Given the description of an element on the screen output the (x, y) to click on. 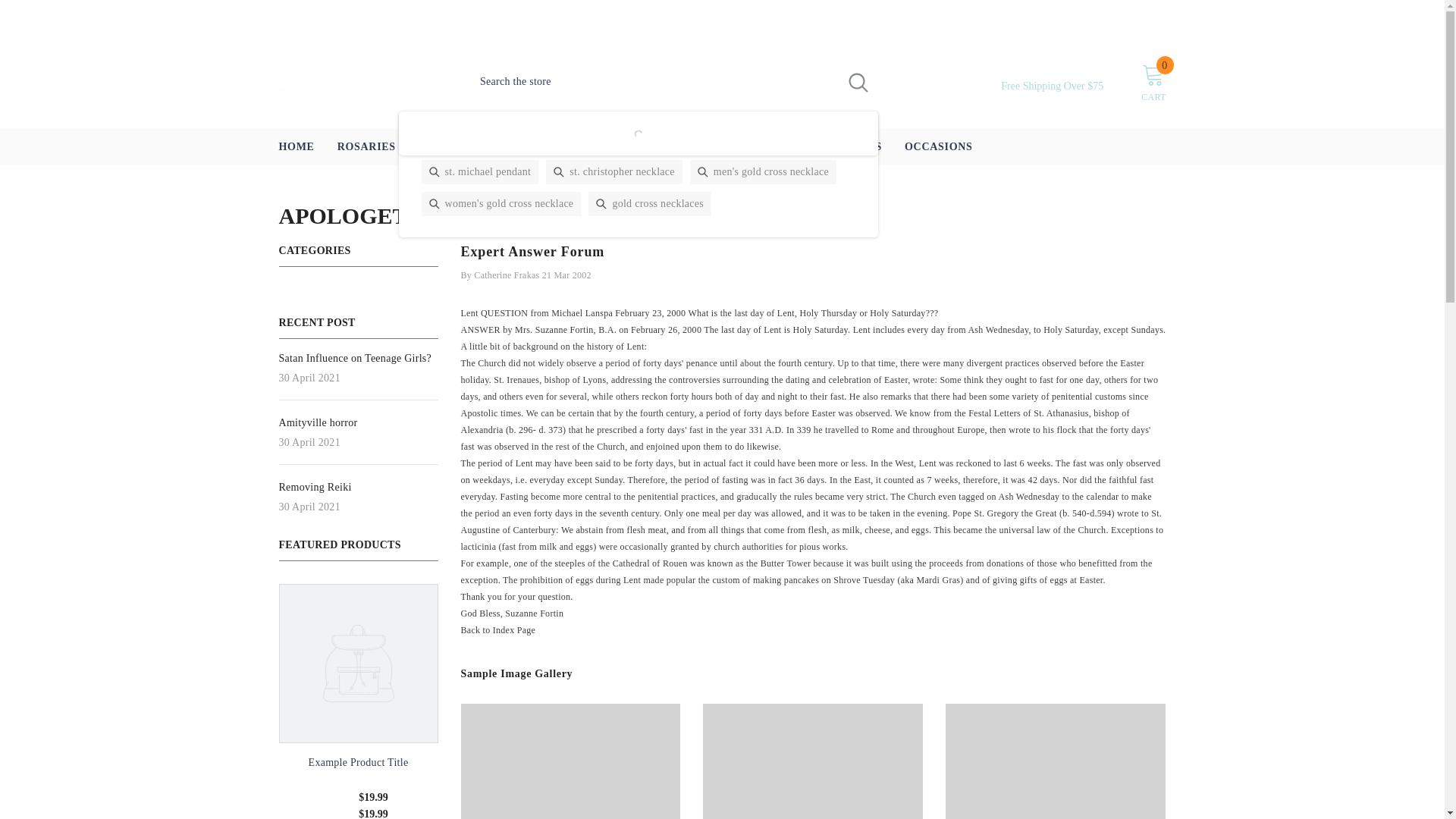
PENDANTS (449, 146)
st. michael pendant (480, 171)
men's gold cross necklace (762, 171)
CROSS NECKLACES (559, 146)
CRUCIFIXES (846, 146)
st. christopher necklace (614, 171)
HOME (295, 146)
WALL DECOR (676, 146)
women's gold cross necklace (501, 203)
ROSARIES (366, 146)
OCCASIONS (938, 146)
gold cross necklaces (649, 203)
STATUES (762, 146)
